Given the description of an element on the screen output the (x, y) to click on. 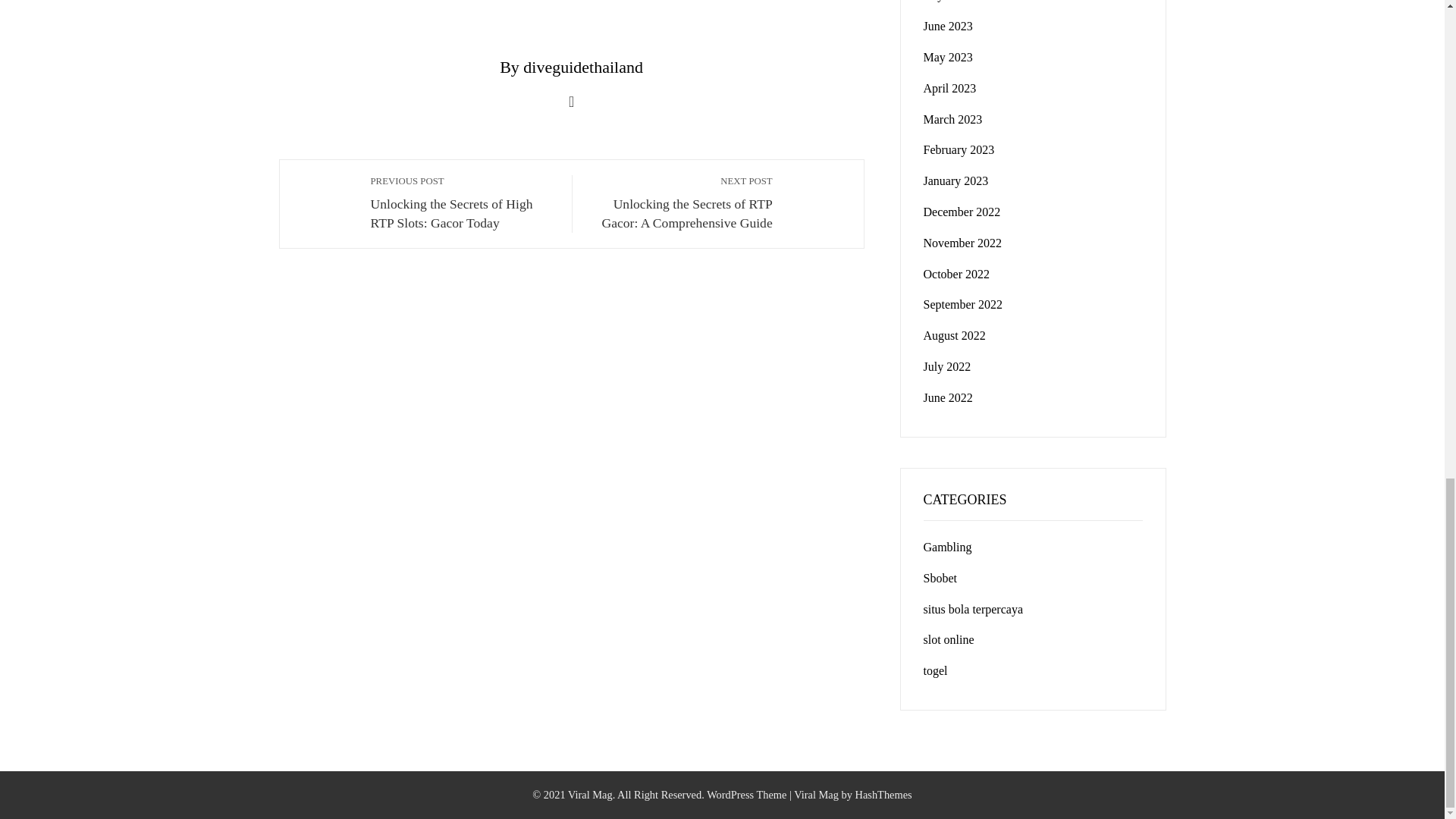
February 2023 (958, 149)
June 2023 (947, 25)
Download Viral News (815, 794)
July 2023 (947, 0)
April 2023 (949, 88)
May 2023 (947, 56)
March 2023 (952, 119)
